Given the description of an element on the screen output the (x, y) to click on. 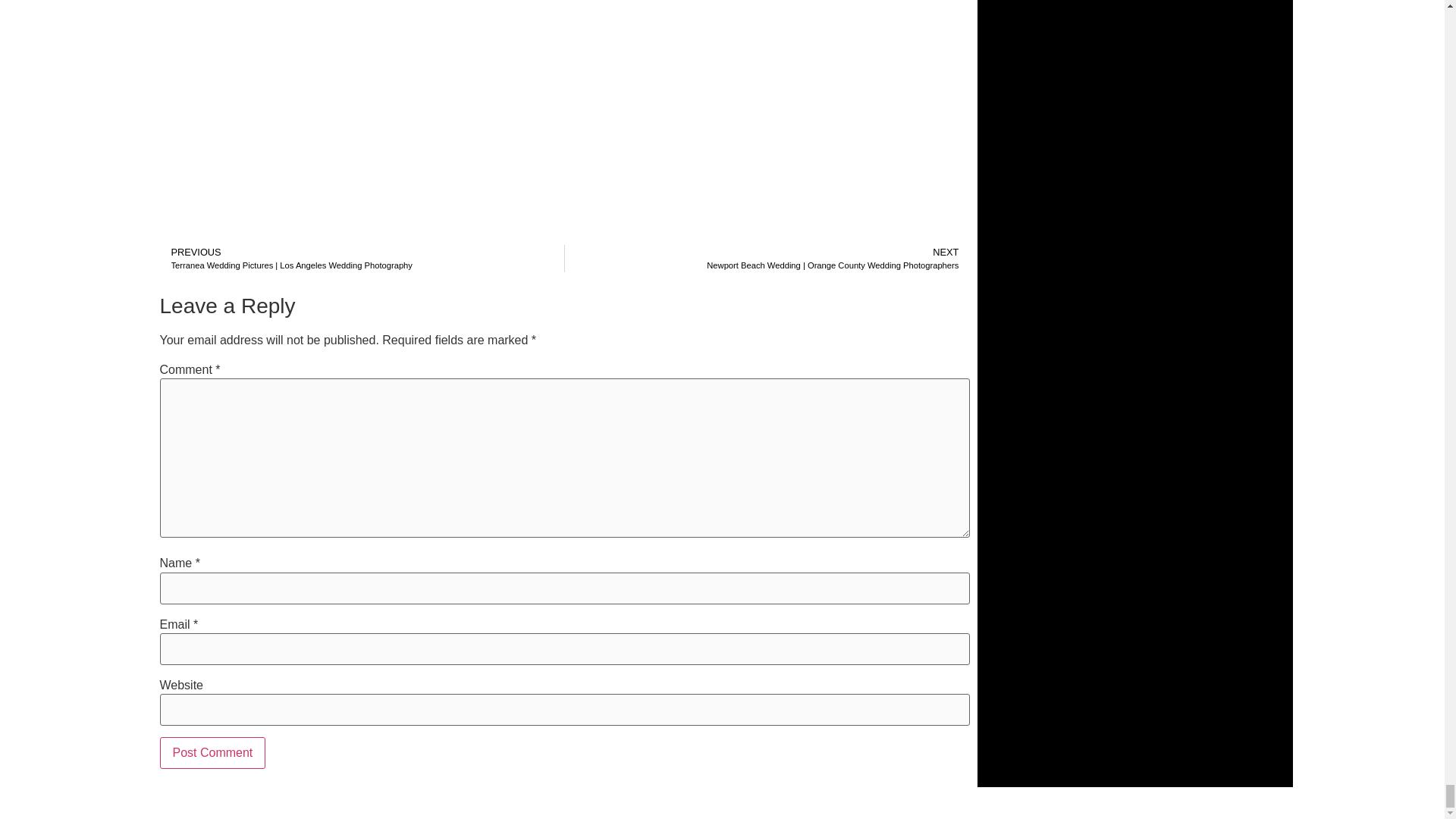
Post Comment (211, 753)
